Given the description of an element on the screen output the (x, y) to click on. 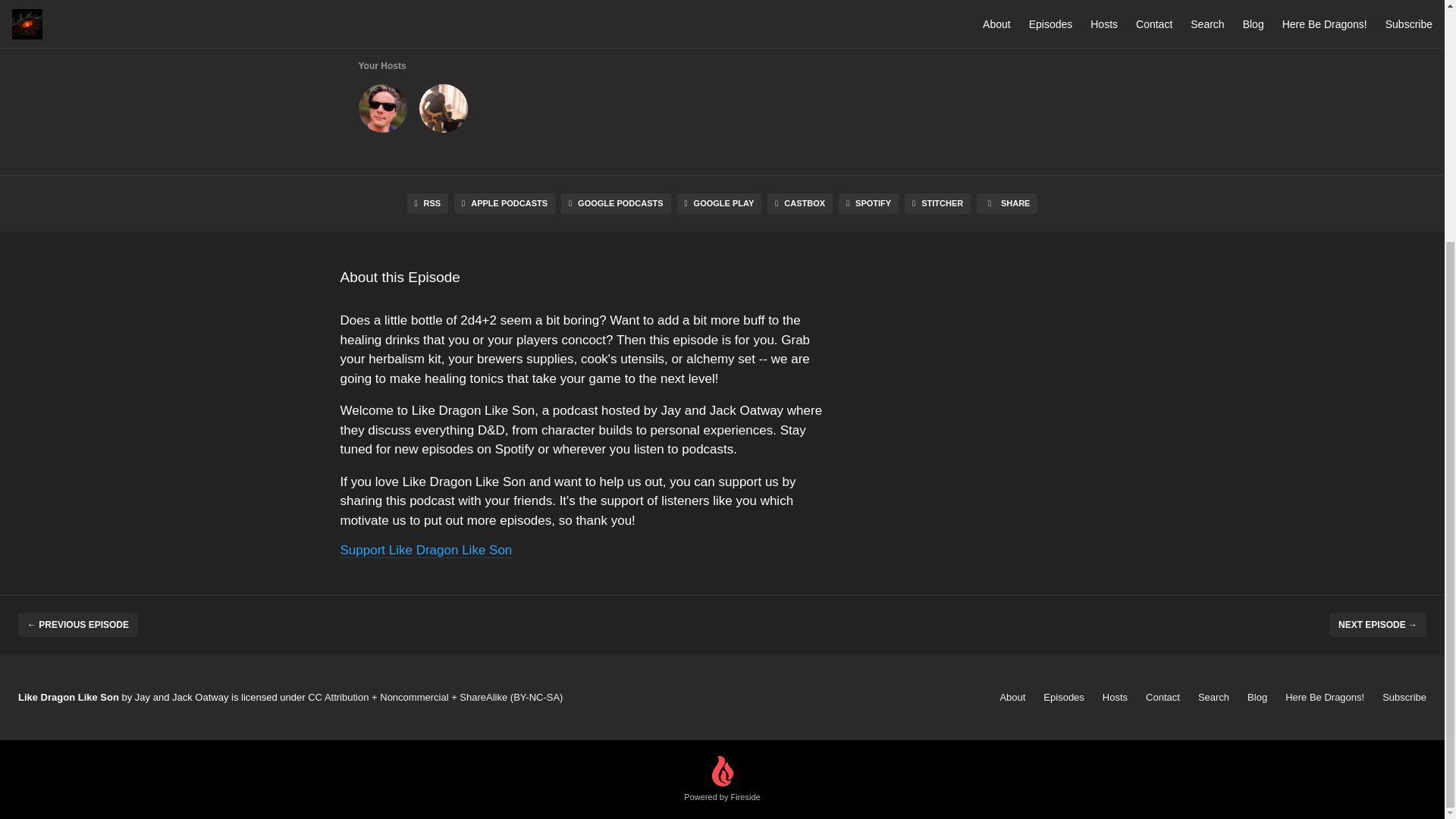
CASTBOX (799, 203)
STITCHER (937, 203)
SPOTIFY (868, 203)
RSS (427, 203)
APPLE PODCASTS (504, 203)
SHARE (1006, 203)
Powered by Fireside (722, 779)
Jay (382, 111)
Jack (443, 111)
GOOGLE PODCASTS (615, 203)
